Given the description of an element on the screen output the (x, y) to click on. 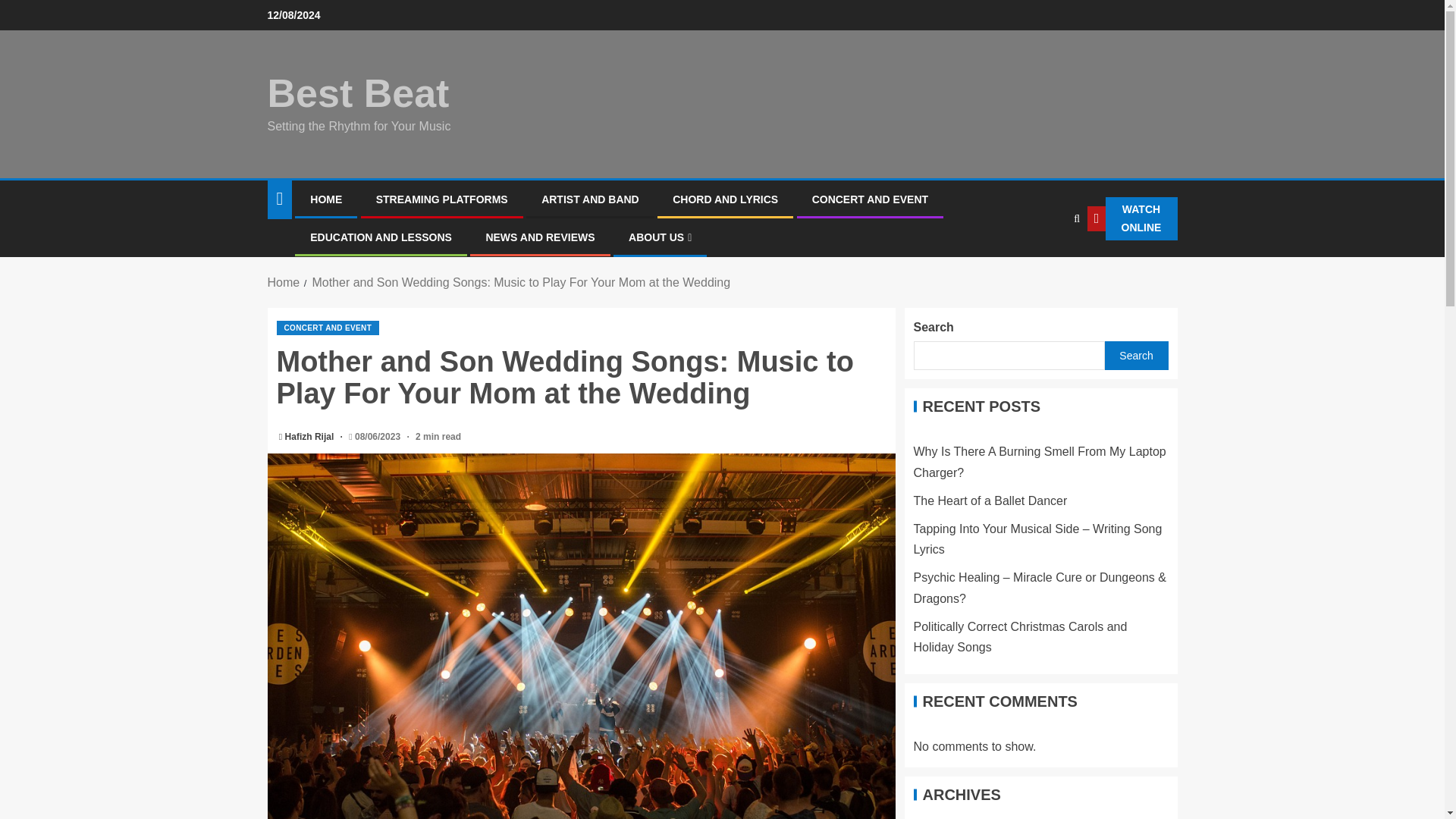
Hafizh Rijal (310, 436)
NEWS AND REVIEWS (539, 236)
Home (282, 282)
HOME (326, 199)
ABOUT US (659, 236)
WATCH ONLINE (1131, 218)
ARTIST AND BAND (590, 199)
Search (1044, 265)
Search (1135, 355)
CONCERT AND EVENT (870, 199)
